Given the description of an element on the screen output the (x, y) to click on. 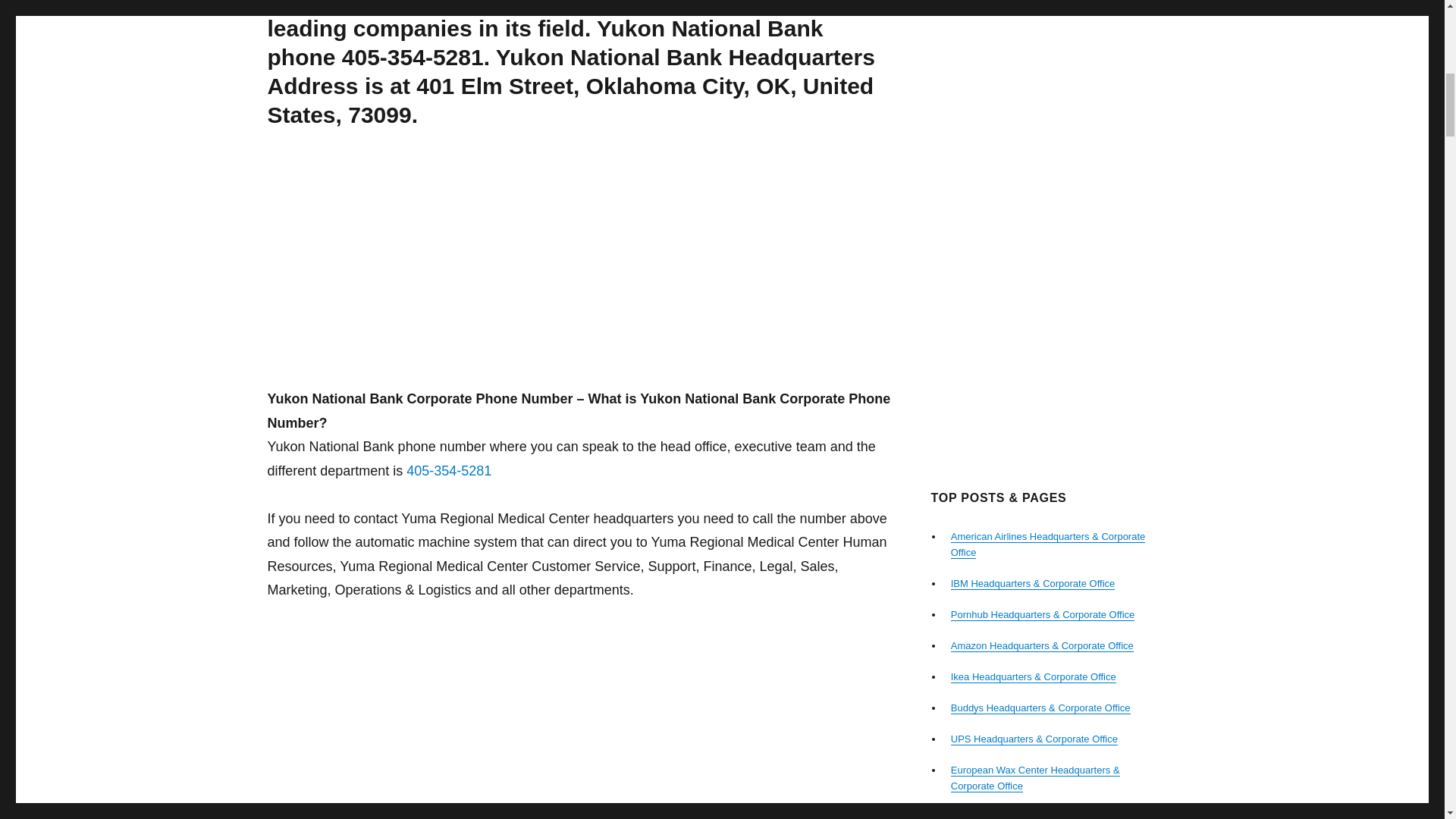
405-354-5281 (449, 470)
